Given the description of an element on the screen output the (x, y) to click on. 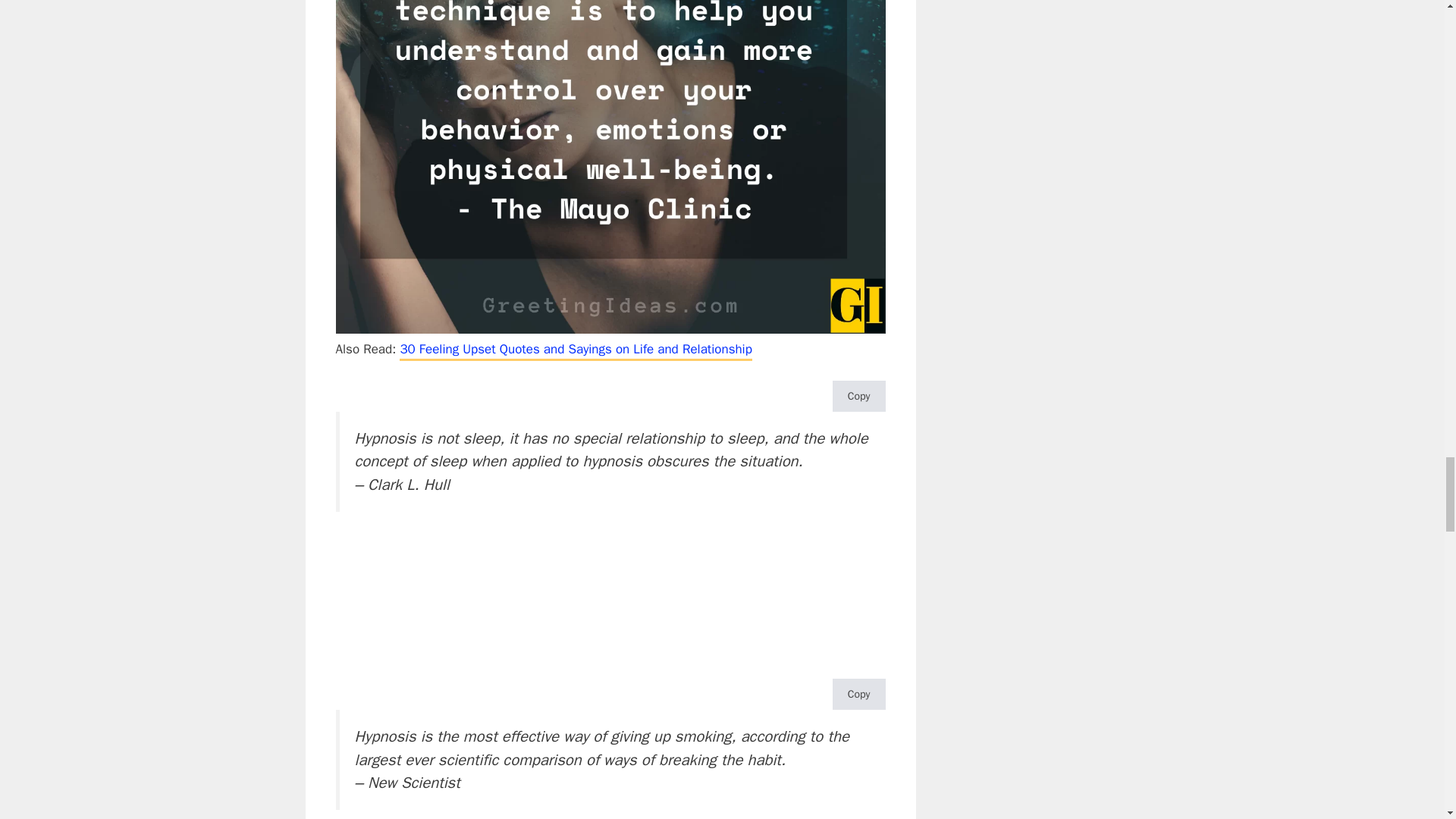
30 Feeling Upset Quotes and Sayings on Life and Relationship (574, 350)
Copy (858, 694)
Copy (858, 395)
